Given the description of an element on the screen output the (x, y) to click on. 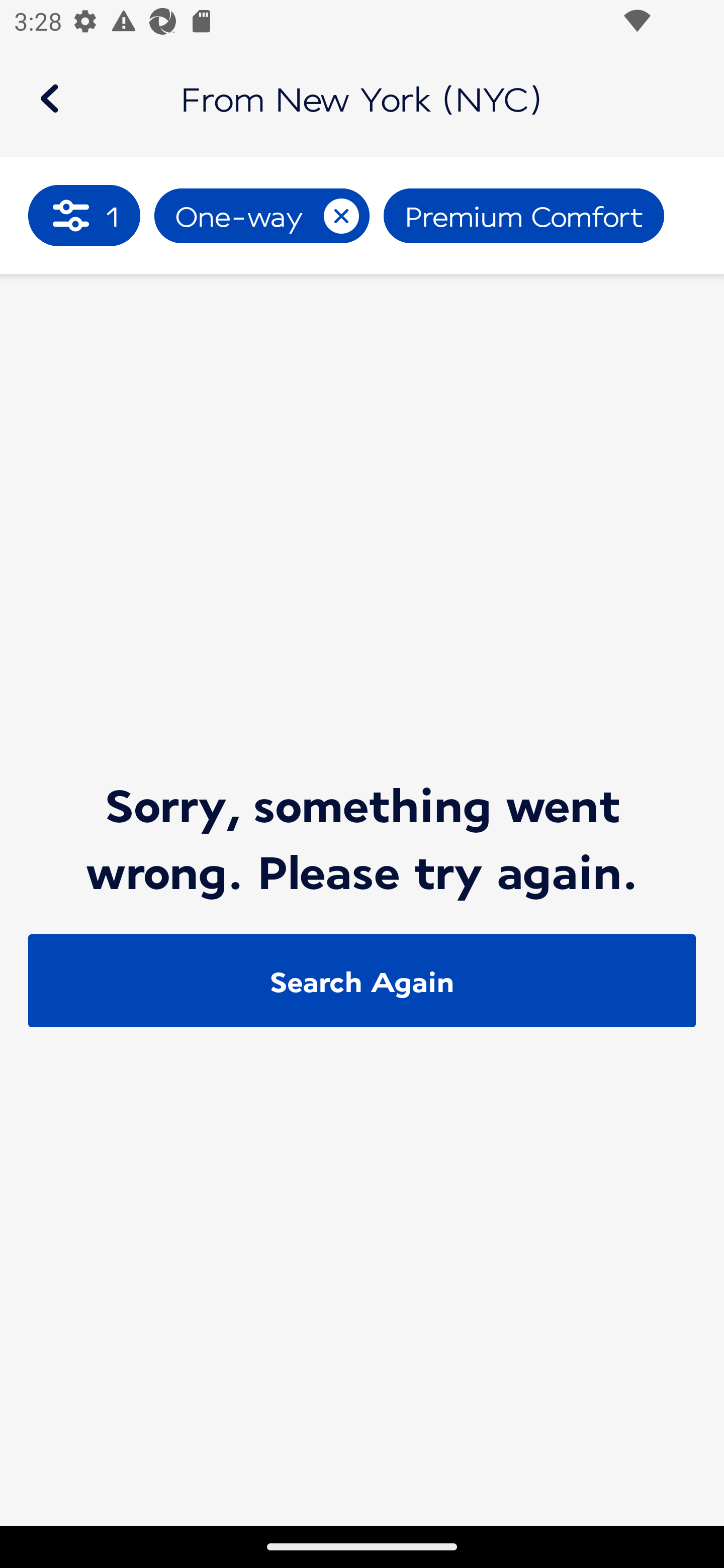
leading 1 (84, 215)
One-way trailing (261, 216)
Premium Comfort (523, 216)
Search Again (361, 980)
